Given the description of an element on the screen output the (x, y) to click on. 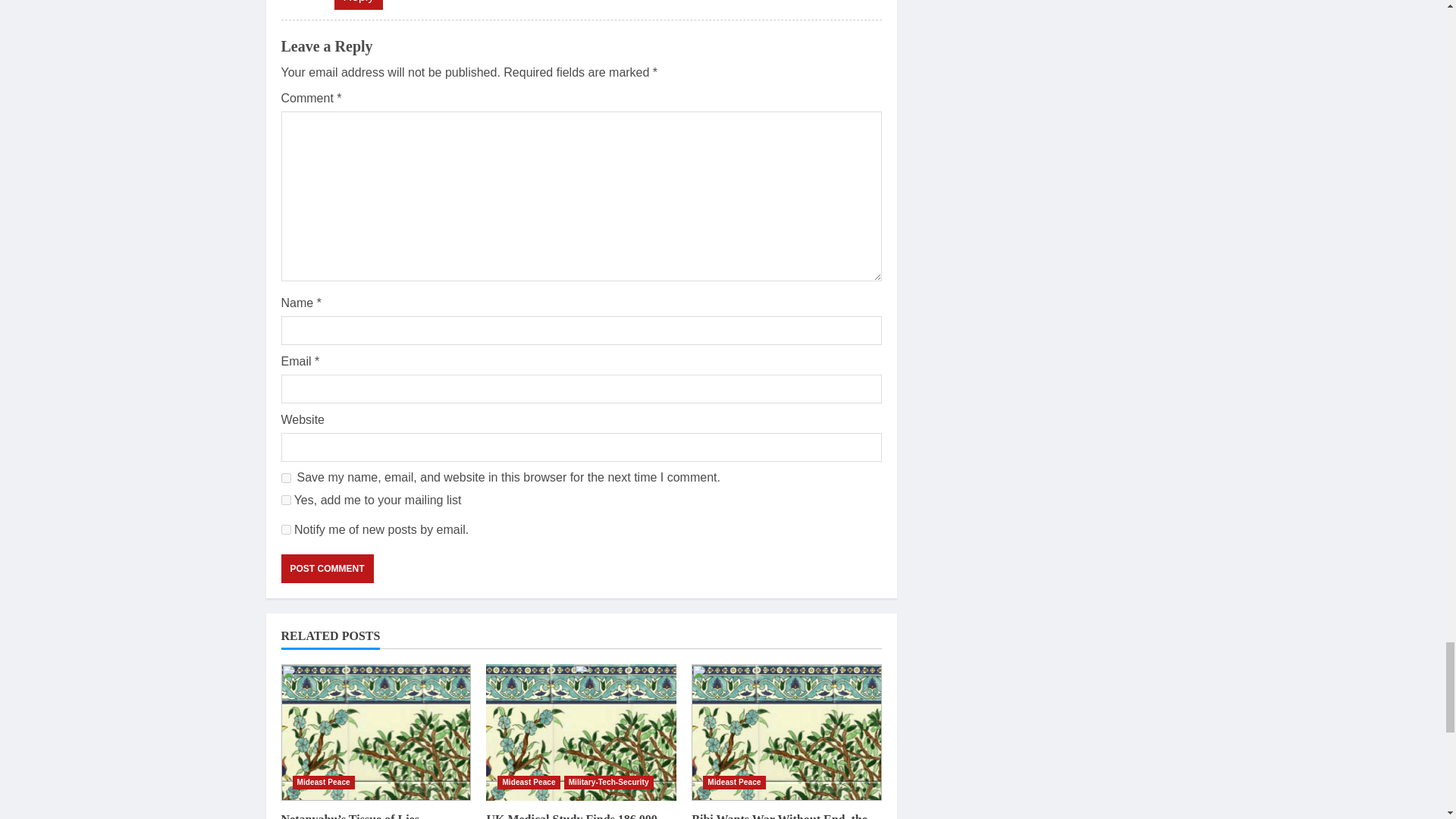
subscribe (285, 529)
1 (285, 500)
yes (285, 478)
Post Comment (326, 568)
